Given the description of an element on the screen output the (x, y) to click on. 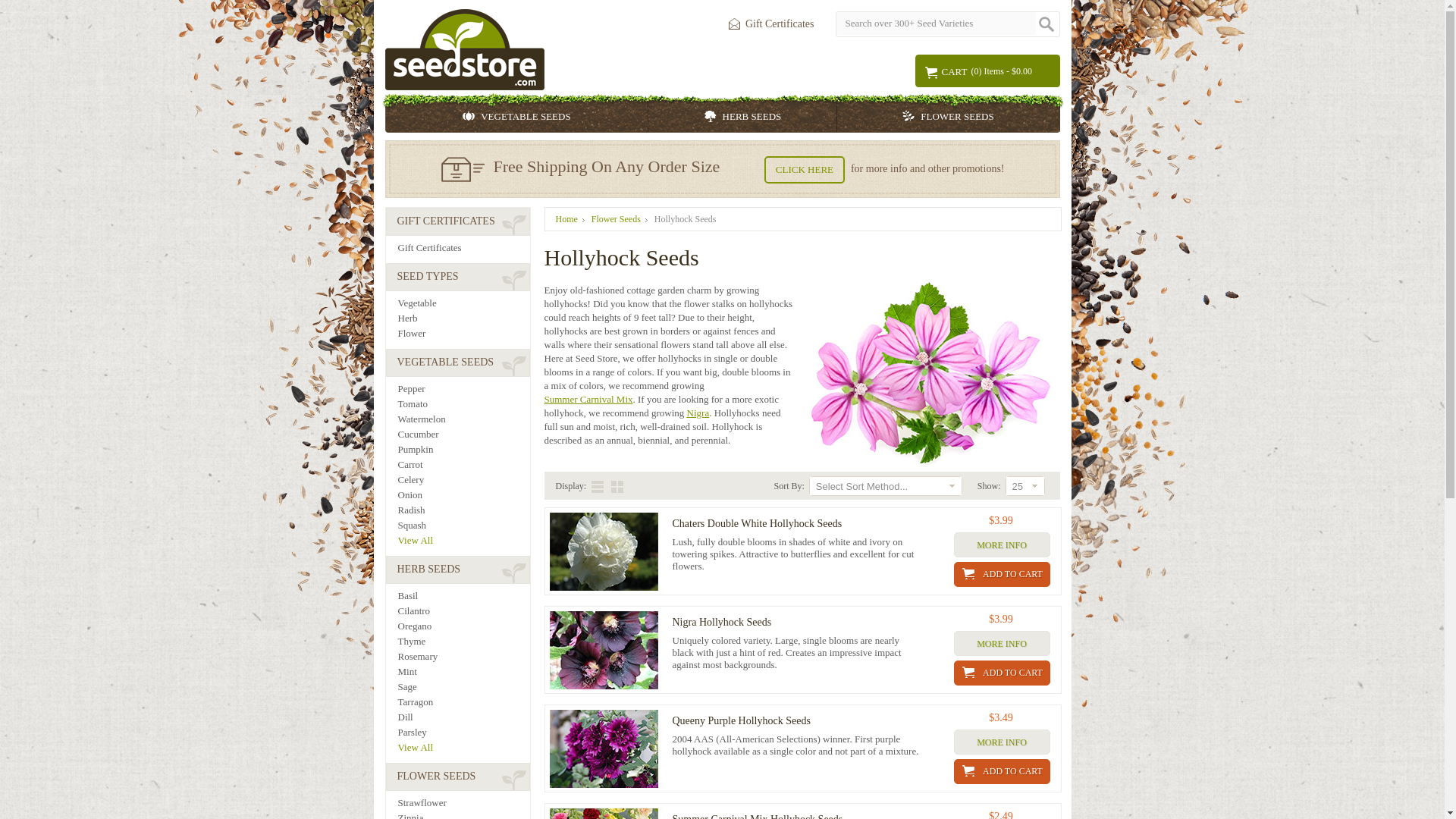
Sage (463, 686)
Strawflower (463, 802)
Flower (463, 333)
CLICK HERE (804, 169)
List View (600, 486)
Gift Certificates (767, 23)
Rosemary (463, 655)
Cilantro (463, 610)
Thyme (463, 641)
Parsley (463, 732)
VEGETABLE SEEDS (516, 116)
Gift Certificates (463, 247)
Vegetable (463, 302)
Oregano (463, 625)
Tomato (463, 403)
